Given the description of an element on the screen output the (x, y) to click on. 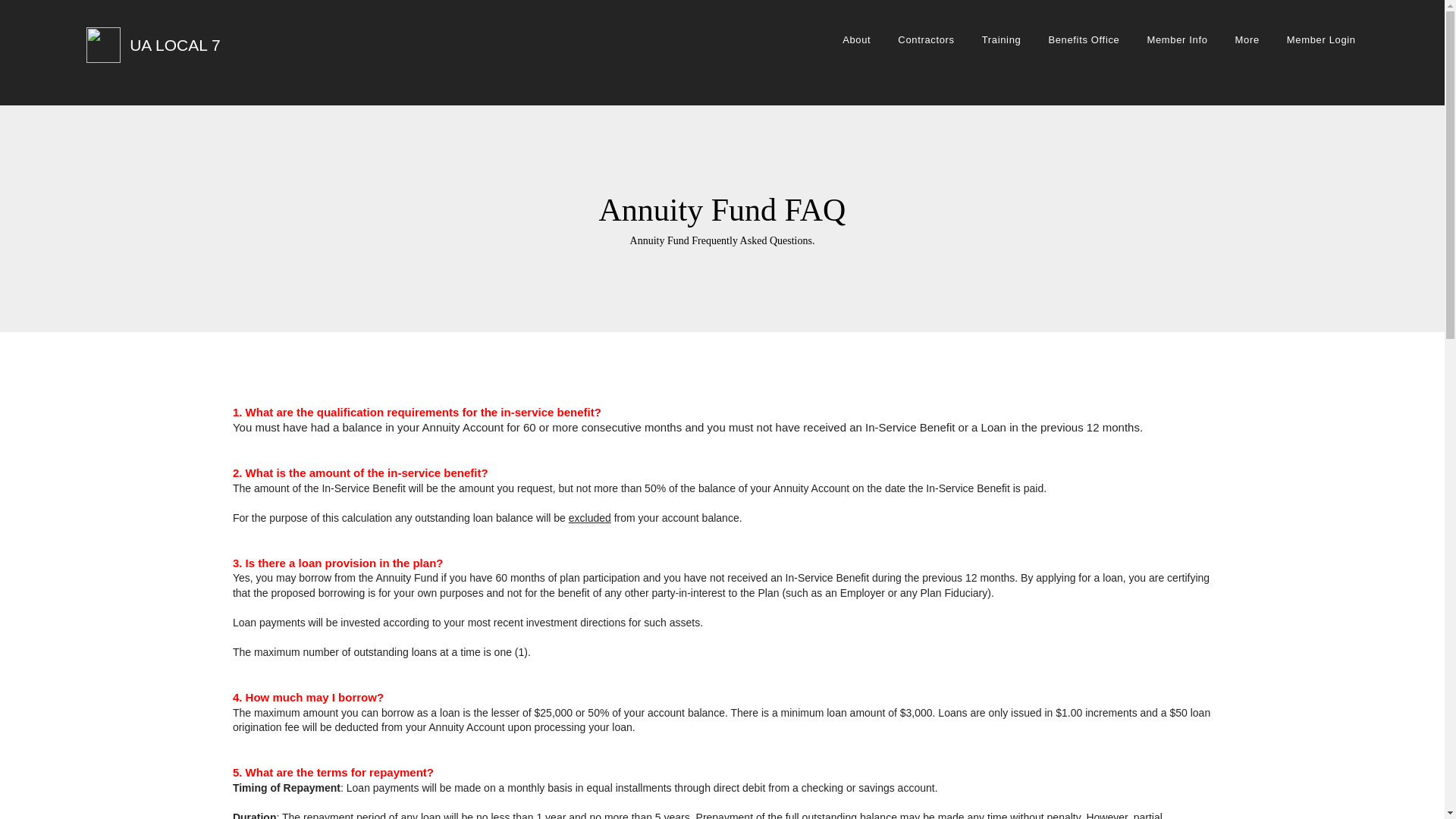
UA LOCAL 7 (174, 45)
Member Login (1321, 39)
